Given the description of an element on the screen output the (x, y) to click on. 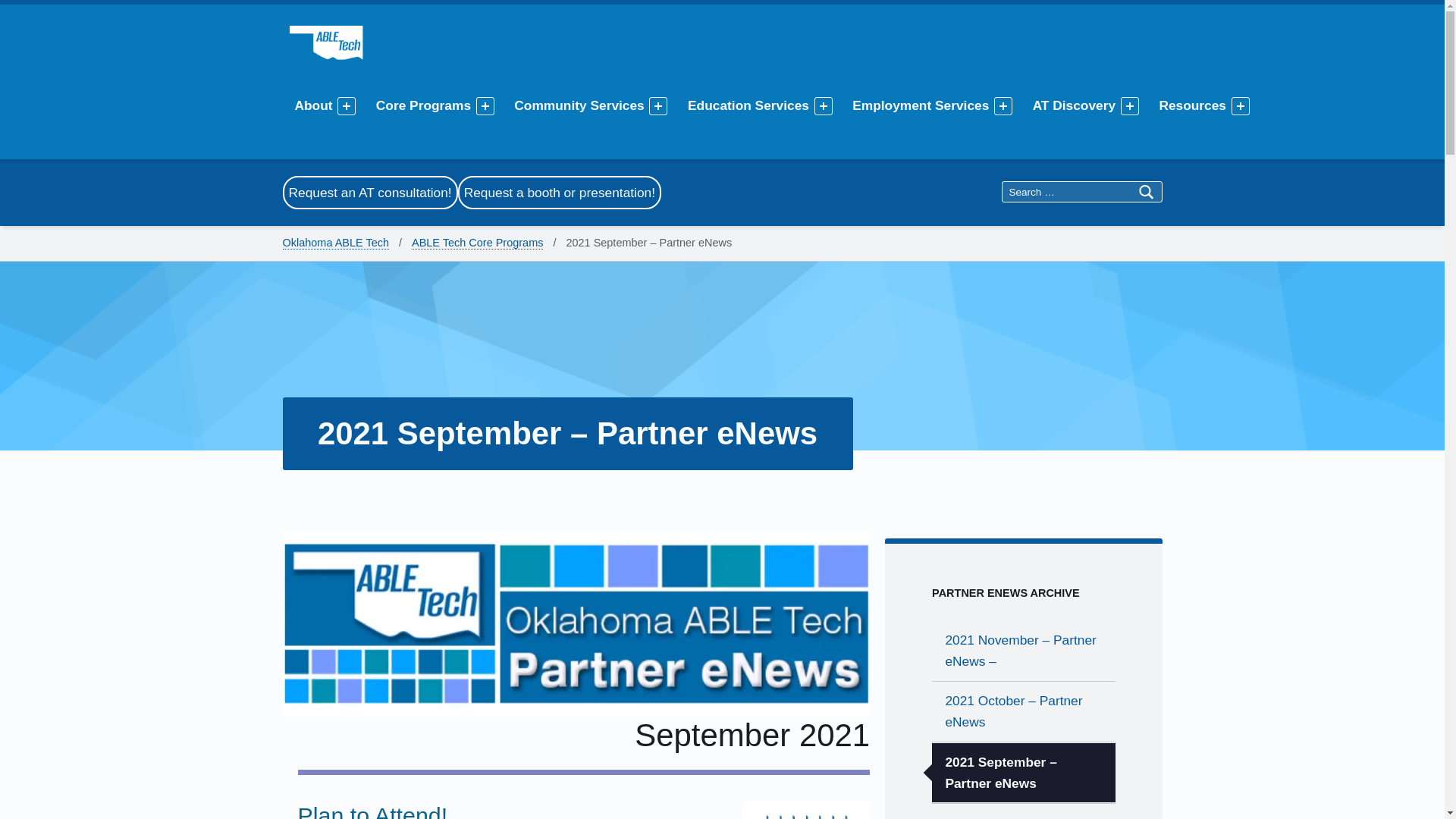
Employment Services (922, 105)
AT Discovery (1076, 105)
Community Services (581, 105)
About (315, 105)
Core Programs (425, 105)
Education Services (750, 105)
